Given the description of an element on the screen output the (x, y) to click on. 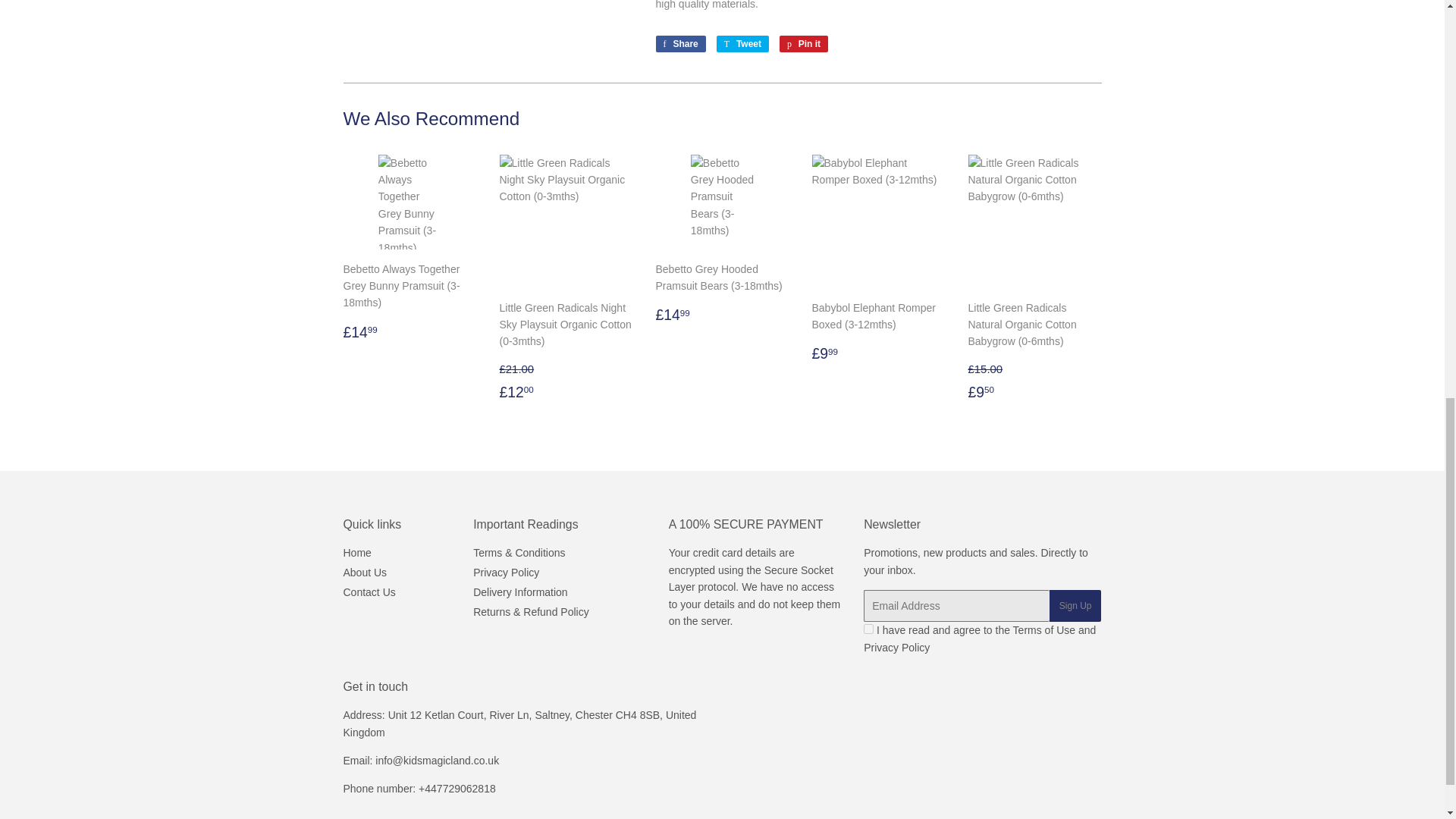
Pin on Pinterest (803, 44)
Tweet on Twitter (742, 44)
Share on Facebook (679, 44)
